Given the description of an element on the screen output the (x, y) to click on. 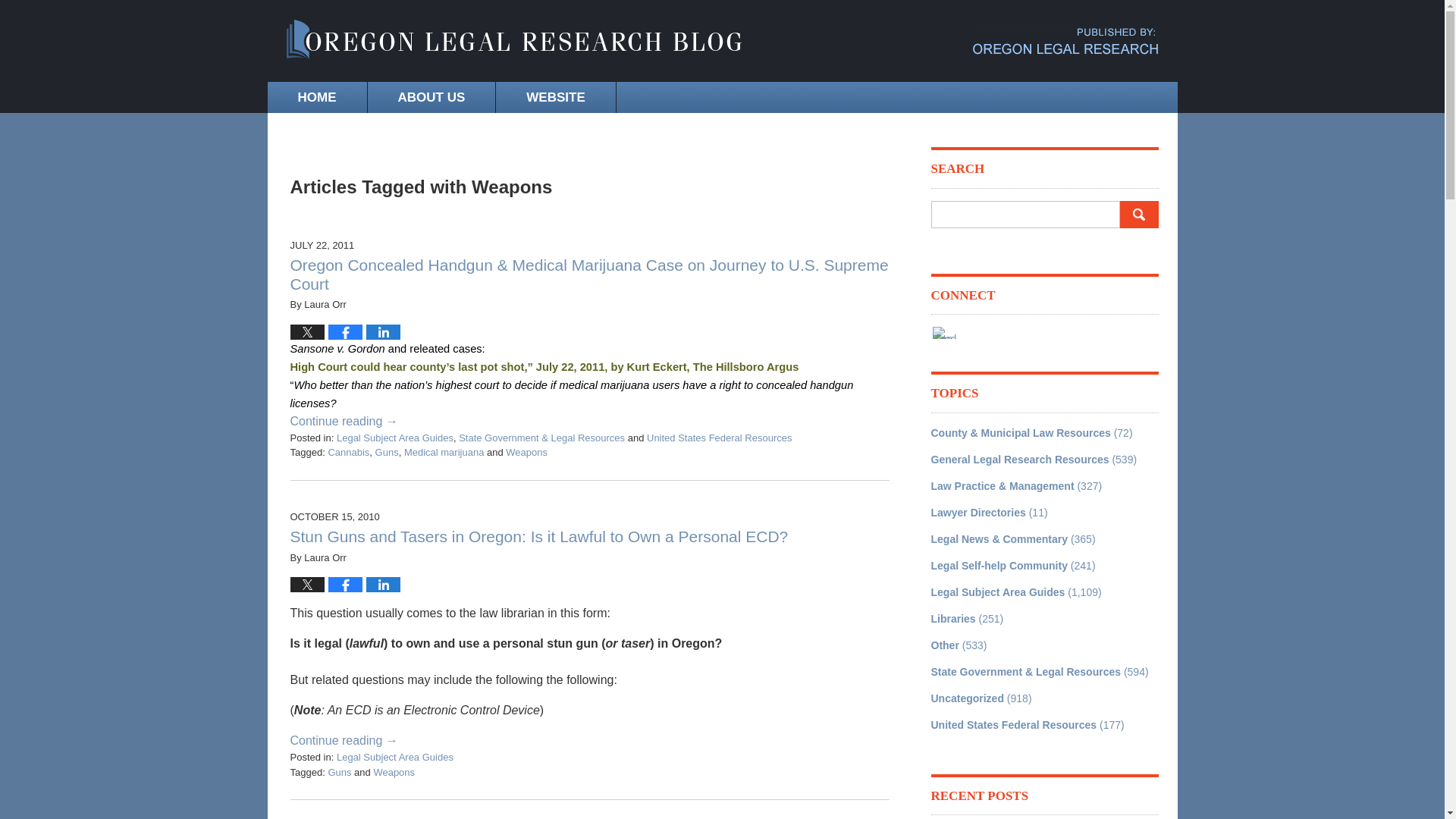
View all posts tagged with Guns (386, 451)
Uncategorized (967, 697)
United States Federal Resources (1014, 725)
View all posts tagged with Cannabis (348, 451)
Other (945, 644)
WEBSITE (555, 97)
United States Federal Resources (719, 437)
Legal Subject Area Guides (998, 591)
